Given the description of an element on the screen output the (x, y) to click on. 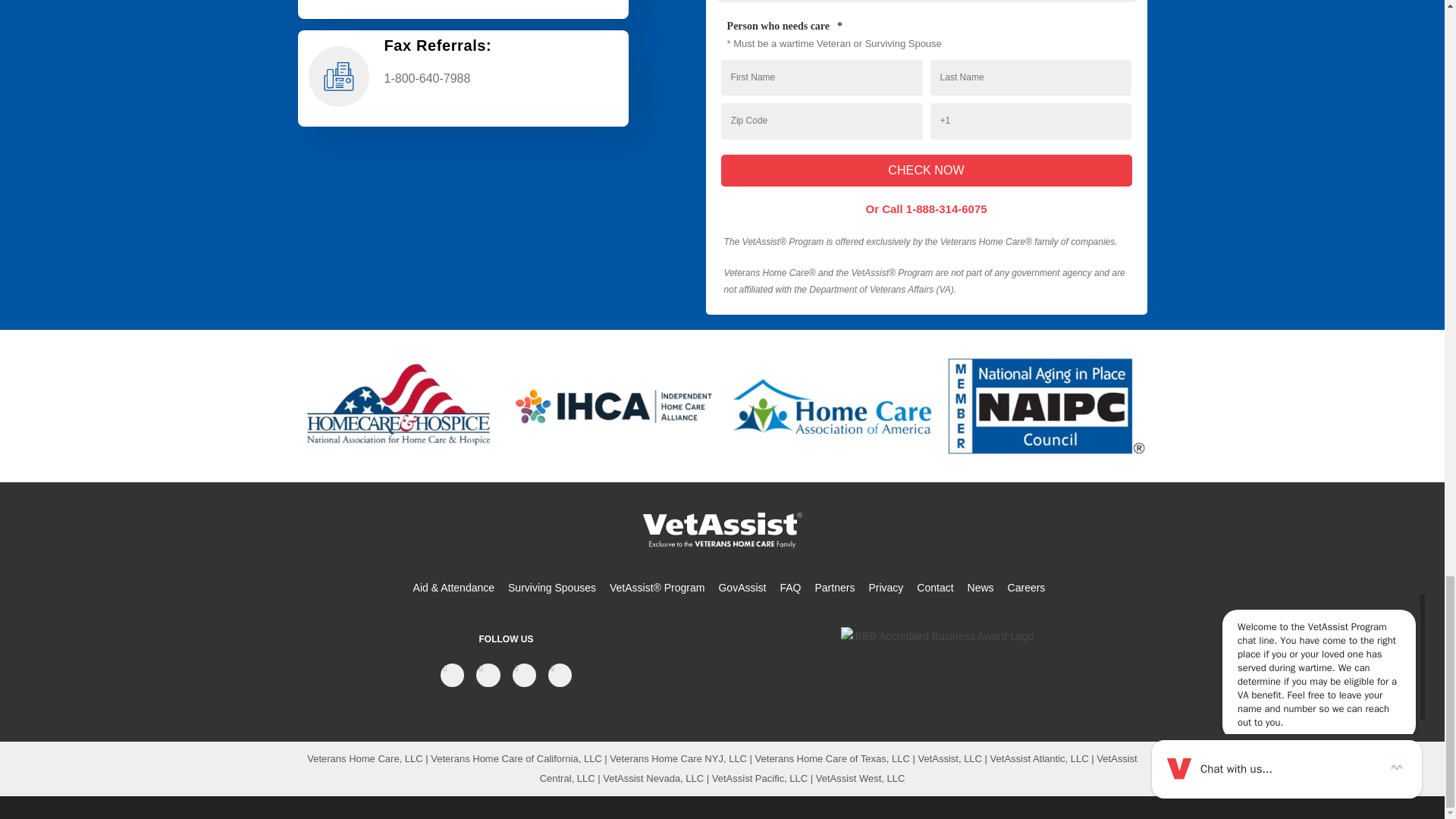
11975 Westline Industrial Drive, St. Louis, Missouri 63146 (462, 209)
